Given the description of an element on the screen output the (x, y) to click on. 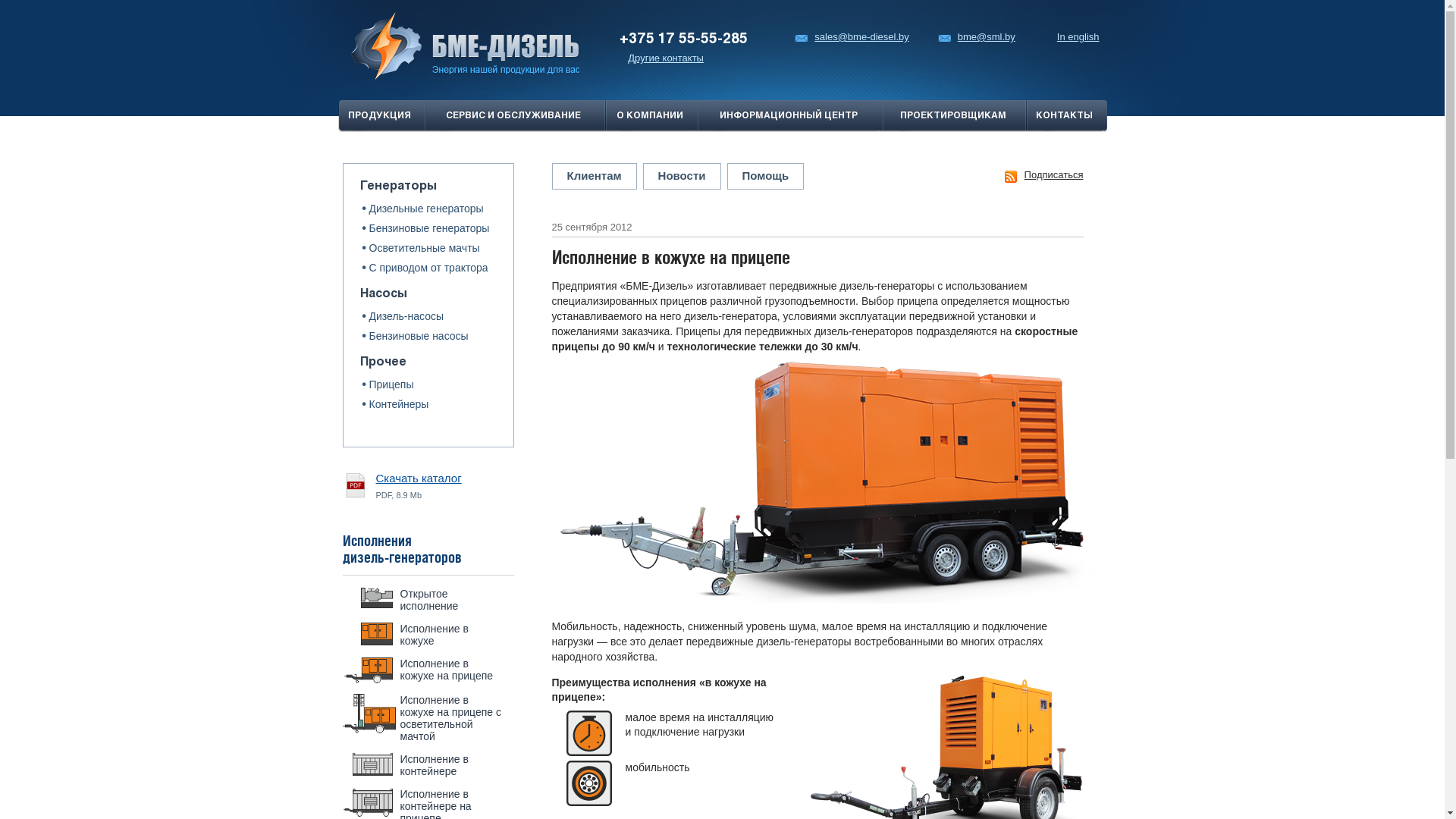
In english Element type: text (1078, 36)
bme@sml.by Element type: text (976, 36)
sales@bme-diesel.by Element type: text (851, 36)
